Given the description of an element on the screen output the (x, y) to click on. 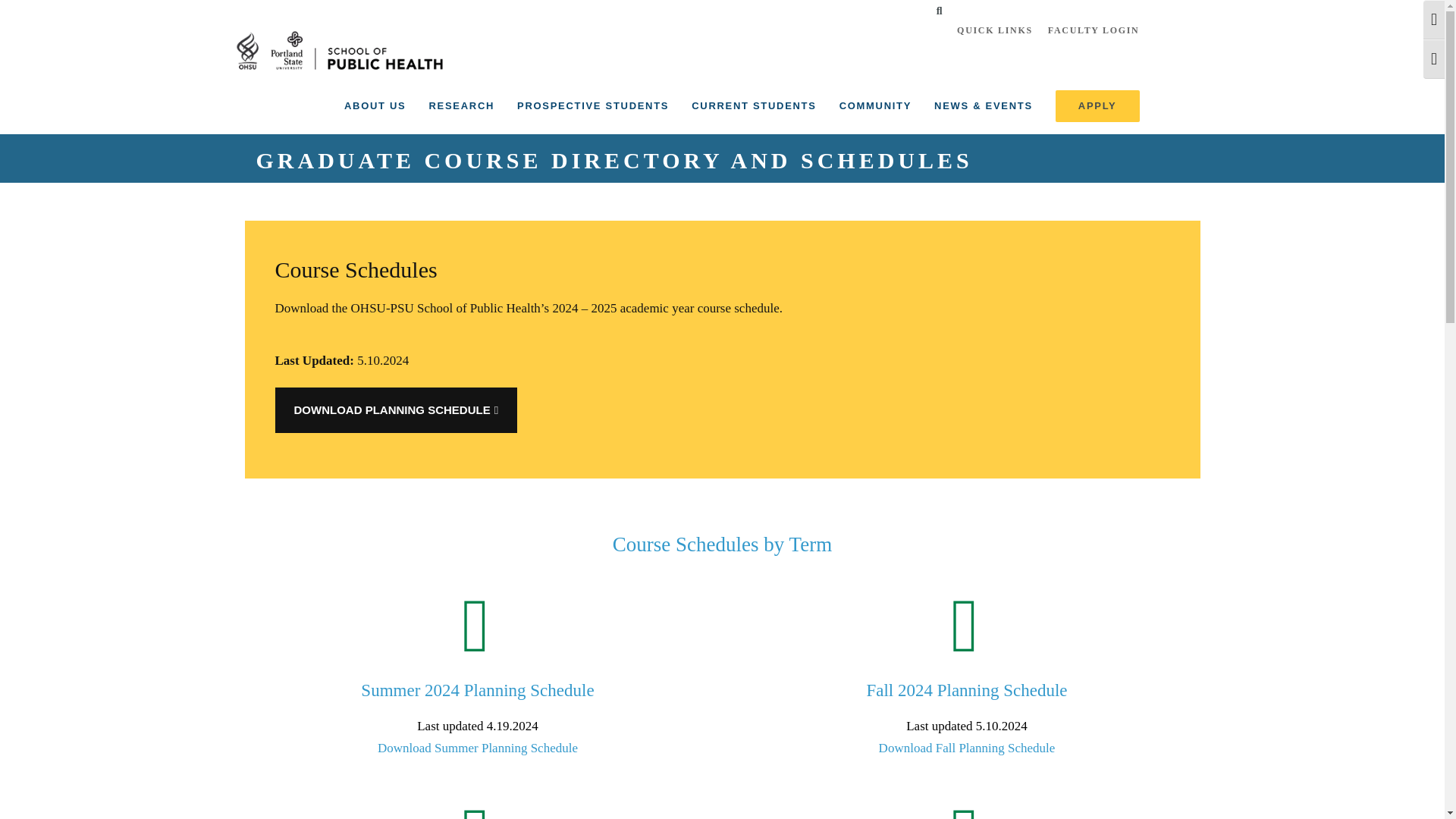
FACULTY LOGIN (1094, 30)
QUICK LINKS (995, 30)
Skip to Main Content (60, 0)
